Given the description of an element on the screen output the (x, y) to click on. 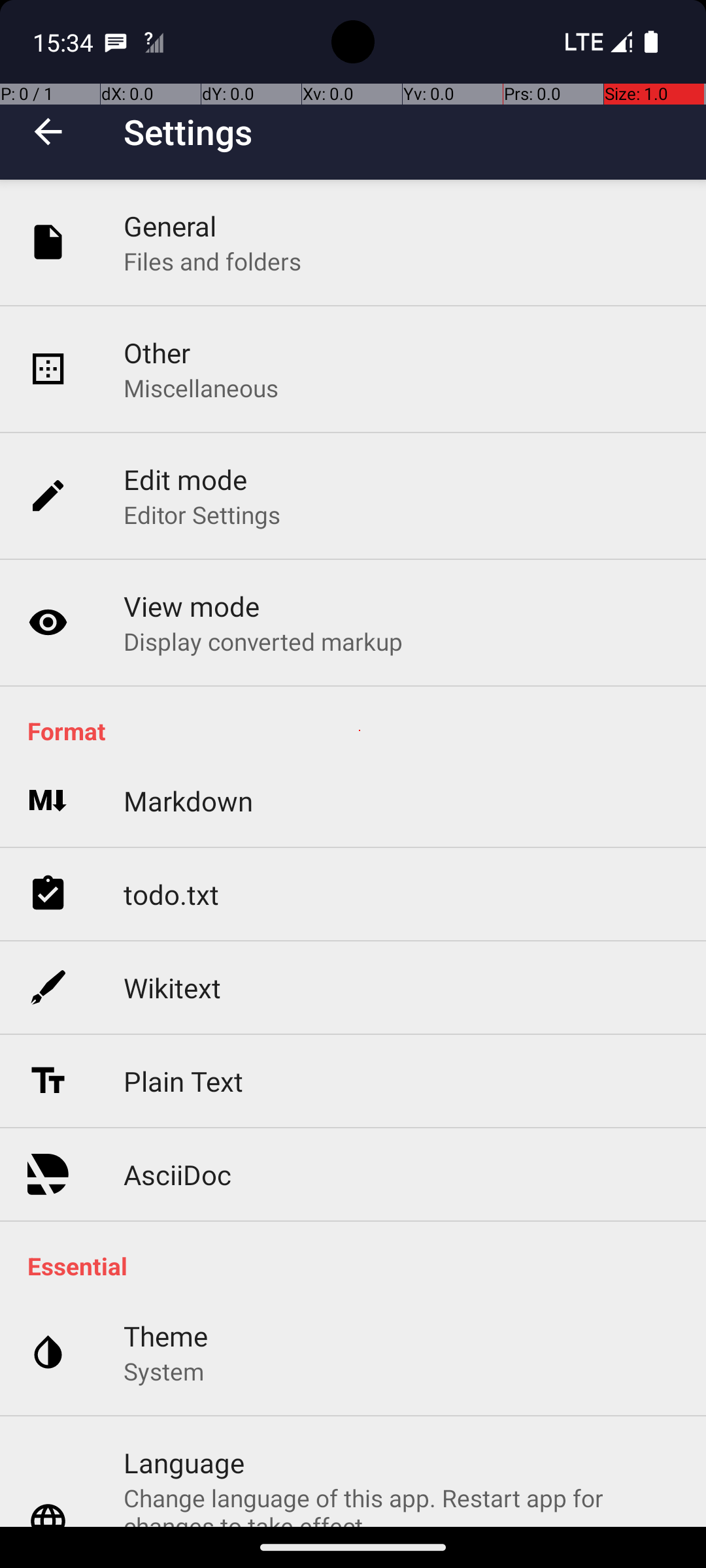
Essential Element type: android.widget.TextView (359, 1265)
Files and folders Element type: android.widget.TextView (212, 260)
Miscellaneous Element type: android.widget.TextView (200, 387)
Editor Settings Element type: android.widget.TextView (202, 514)
Display converted markup Element type: android.widget.TextView (263, 640)
Change language of this app. Restart app for changes to take effect

Danish (Dansk) Element type: android.widget.TextView (400, 1503)
